Given the description of an element on the screen output the (x, y) to click on. 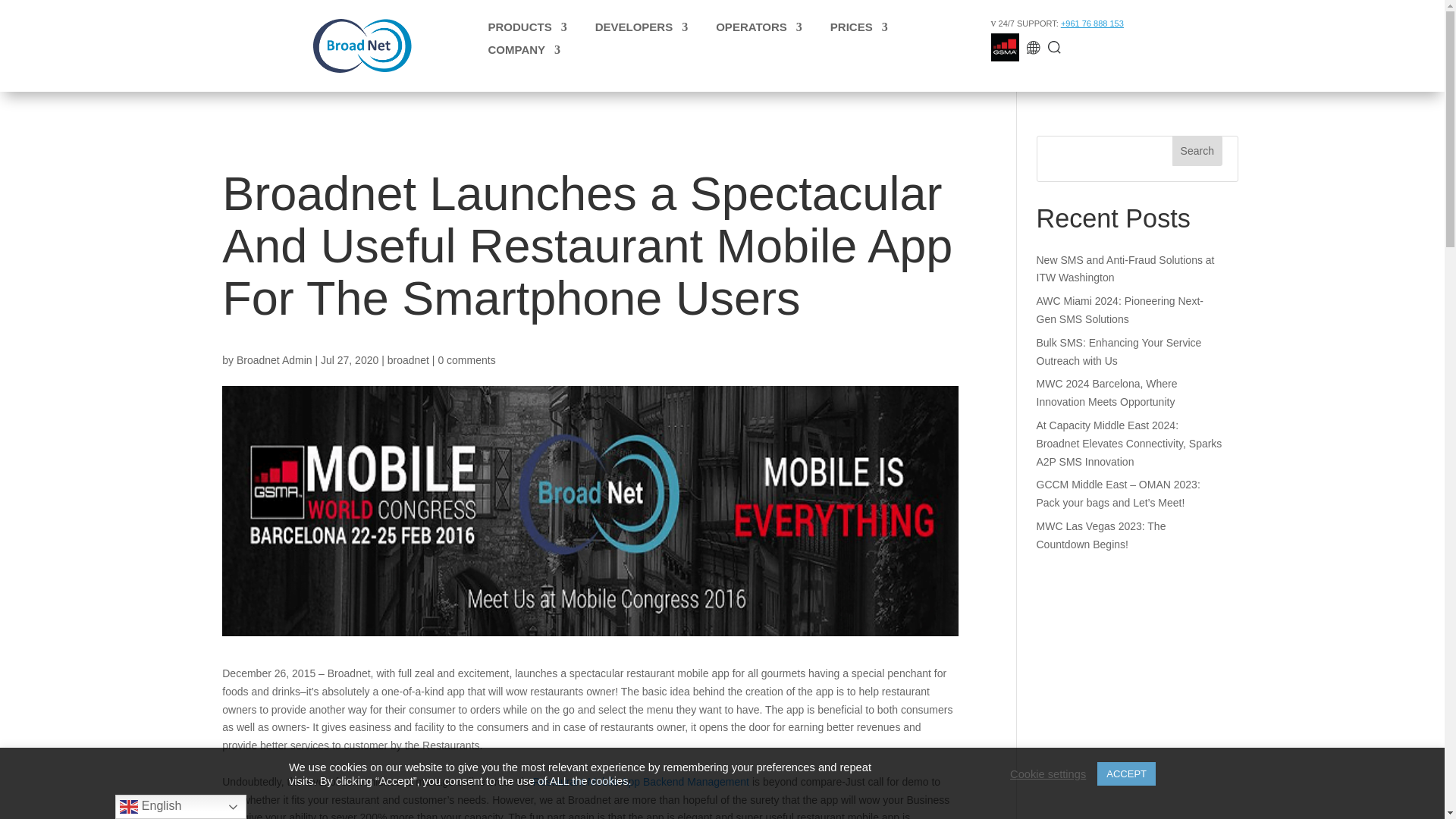
COMPANY (518, 53)
DEVELOPERS (635, 30)
PRODUCTS (521, 30)
Posts by Broadnet Admin (274, 359)
Search (1197, 150)
OPERATORS (753, 30)
PRICES (853, 30)
